Given the description of an element on the screen output the (x, y) to click on. 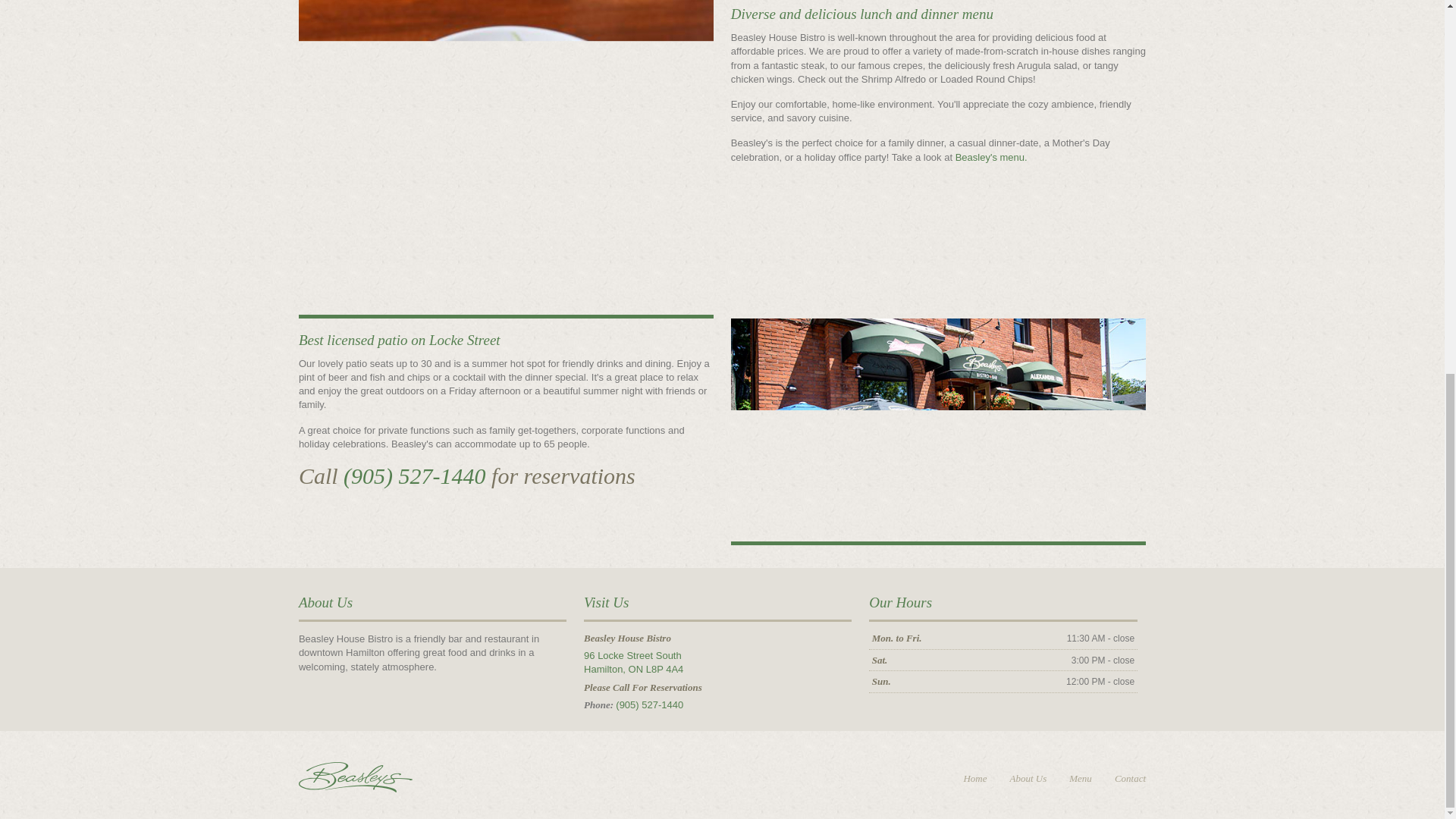
Beasley's menu. (991, 156)
About Us (1028, 778)
Home (974, 778)
Contact (1130, 778)
Menu (632, 662)
